Given the description of an element on the screen output the (x, y) to click on. 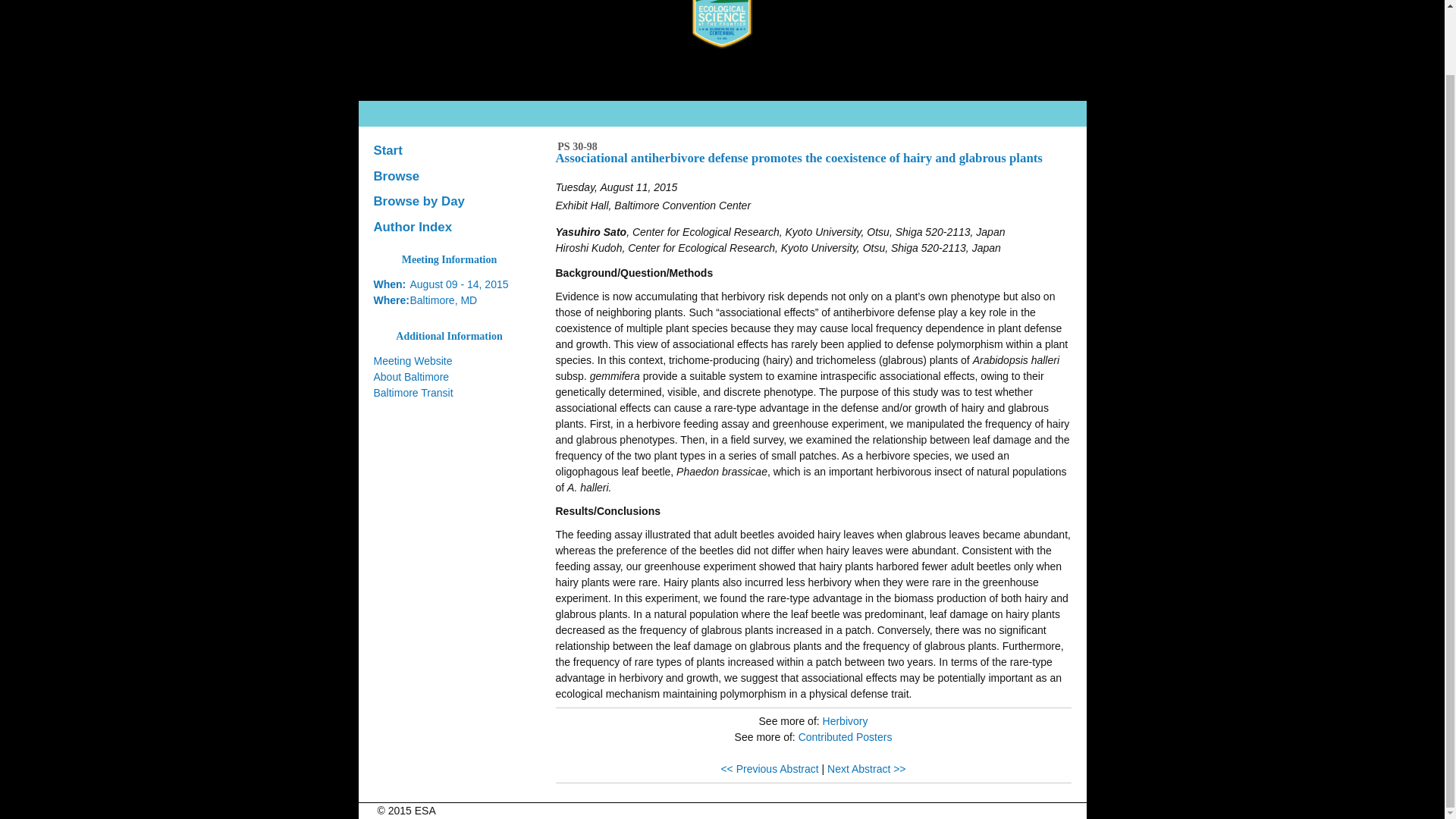
Start (448, 150)
Browse by Day (448, 201)
Baltimore Transit (412, 392)
Herbivory (844, 720)
About Baltimore (410, 377)
Meeting Website (411, 360)
Browse (448, 176)
Contributed Posters (844, 736)
Author Index (448, 227)
